Given the description of an element on the screen output the (x, y) to click on. 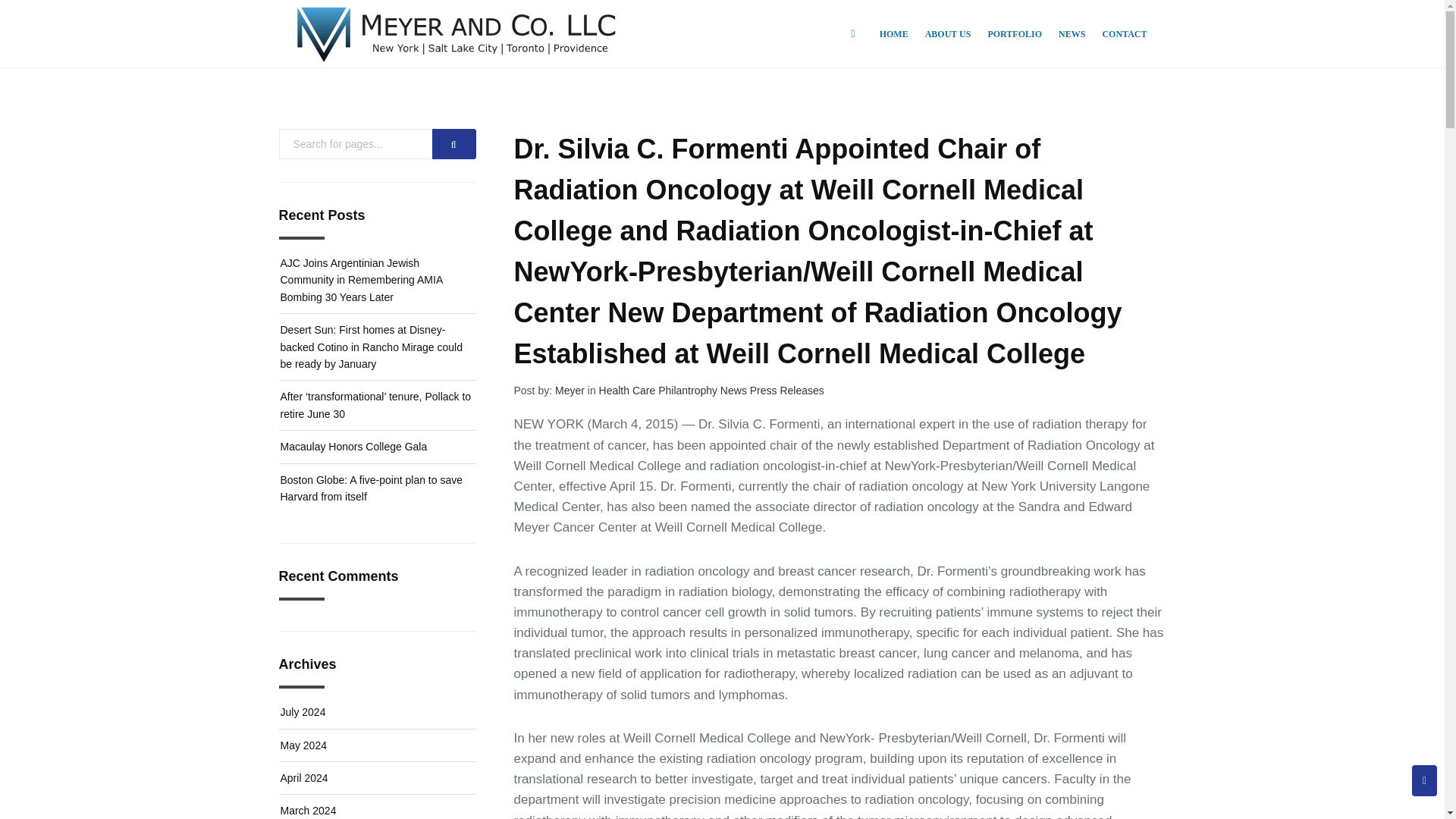
Health Care (628, 390)
April 2024 (305, 777)
May 2024 (303, 745)
Meyer (569, 390)
Meyer and Co (456, 33)
July 2024 (303, 711)
Macaulay Honors College Gala (354, 446)
PORTFOLIO (1014, 33)
Press Releases (786, 390)
March 2024 (308, 810)
Boston Globe: A five-point plan to save Harvard from itself (372, 488)
ABOUT US (947, 33)
Philantrophy News (703, 390)
